Given the description of an element on the screen output the (x, y) to click on. 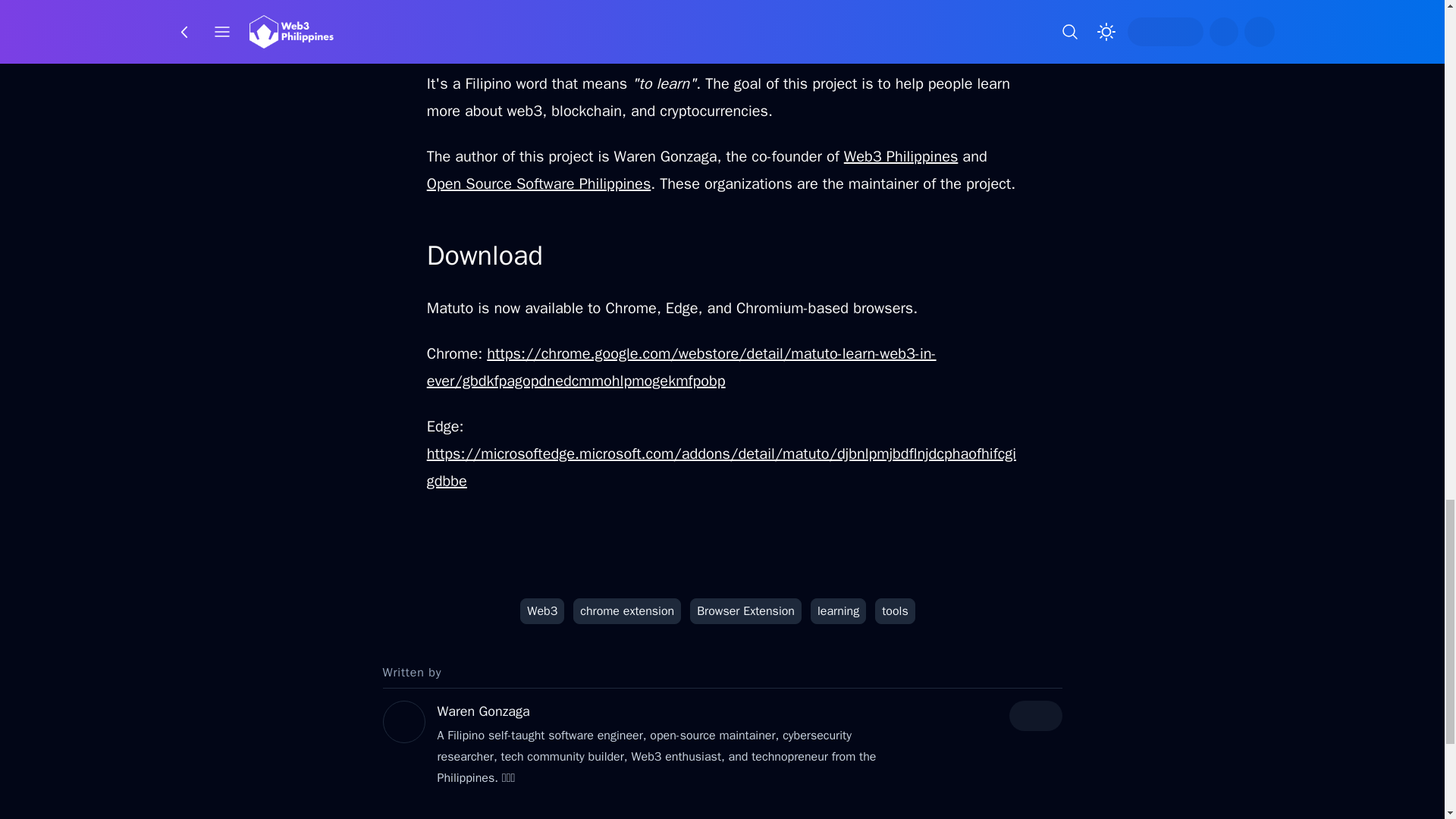
learning (838, 611)
Browser Extension (746, 611)
Web3 (541, 611)
Open Source Software Philippines (538, 183)
Web3 Philippines (901, 156)
chrome extension (627, 611)
tools (895, 611)
Waren Gonzaga (482, 710)
